Given the description of an element on the screen output the (x, y) to click on. 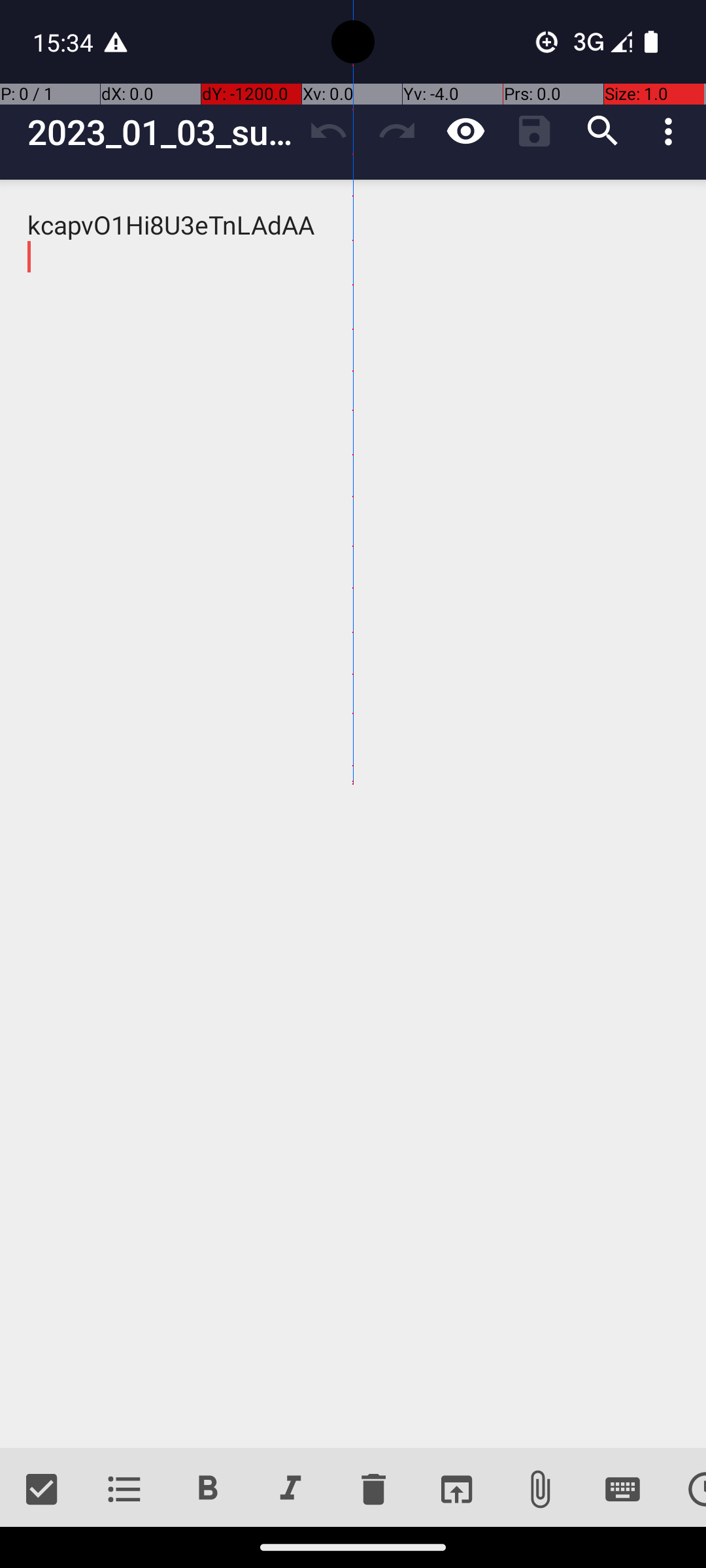
2023_01_03_summer_vacation_plans Element type: android.widget.TextView (160, 131)
kcapvO1Hi8U3eTnLAdAA
 Element type: android.widget.EditText (353, 813)
